Given the description of an element on the screen output the (x, y) to click on. 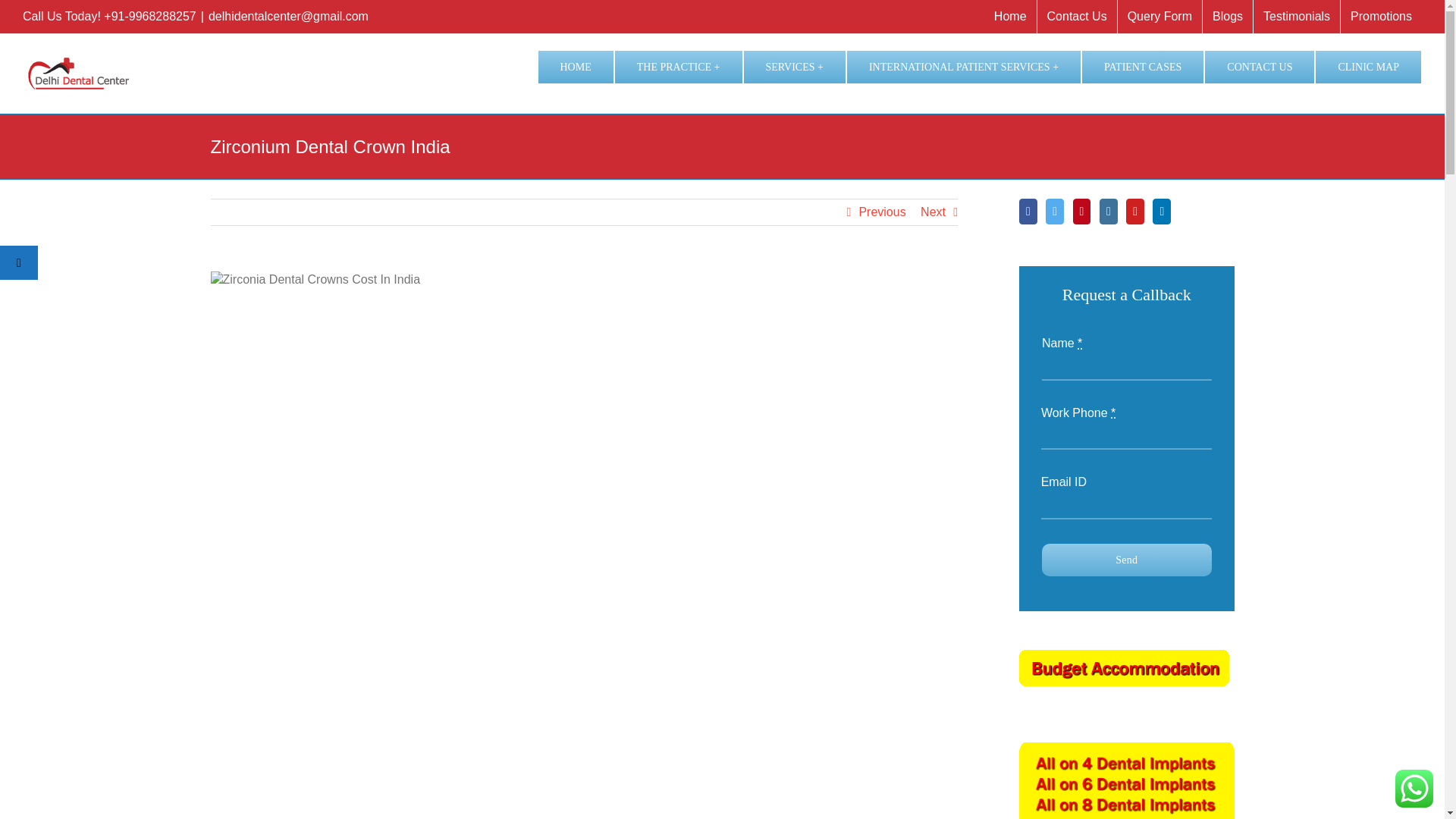
Only numbers and phone characters are accepted. (1126, 438)
Contact Us (1076, 16)
Home (1010, 16)
Query Form (1160, 16)
Blogs (1227, 16)
Testimonials (1296, 16)
HOME (574, 65)
Promotions (1381, 16)
